Given the description of an element on the screen output the (x, y) to click on. 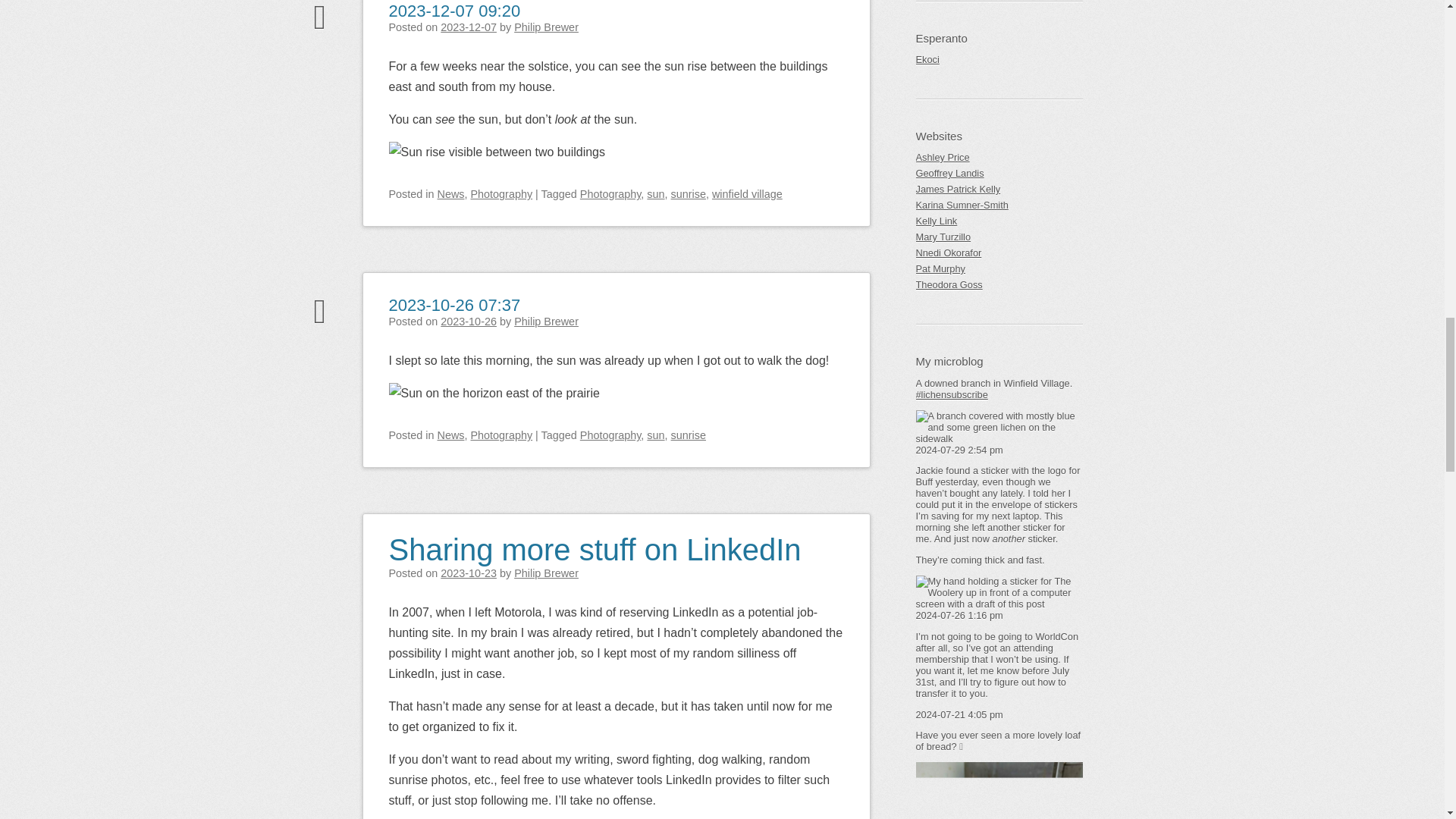
Photography (610, 193)
2023-12-07 (468, 27)
Photography (501, 193)
Philip Brewer (545, 27)
sunrise (688, 193)
2023-10-26 07:37 (453, 293)
2023-10-26 (468, 321)
News (451, 193)
View all posts by Philip Brewer (545, 27)
9:24 am (468, 27)
2023-12-07 09:20 (453, 10)
Permalink to 2023-12-07 09:20 (453, 10)
sun (654, 193)
winfield village (747, 193)
Permalink to 2023-10-26 07:37 (453, 293)
